Given the description of an element on the screen output the (x, y) to click on. 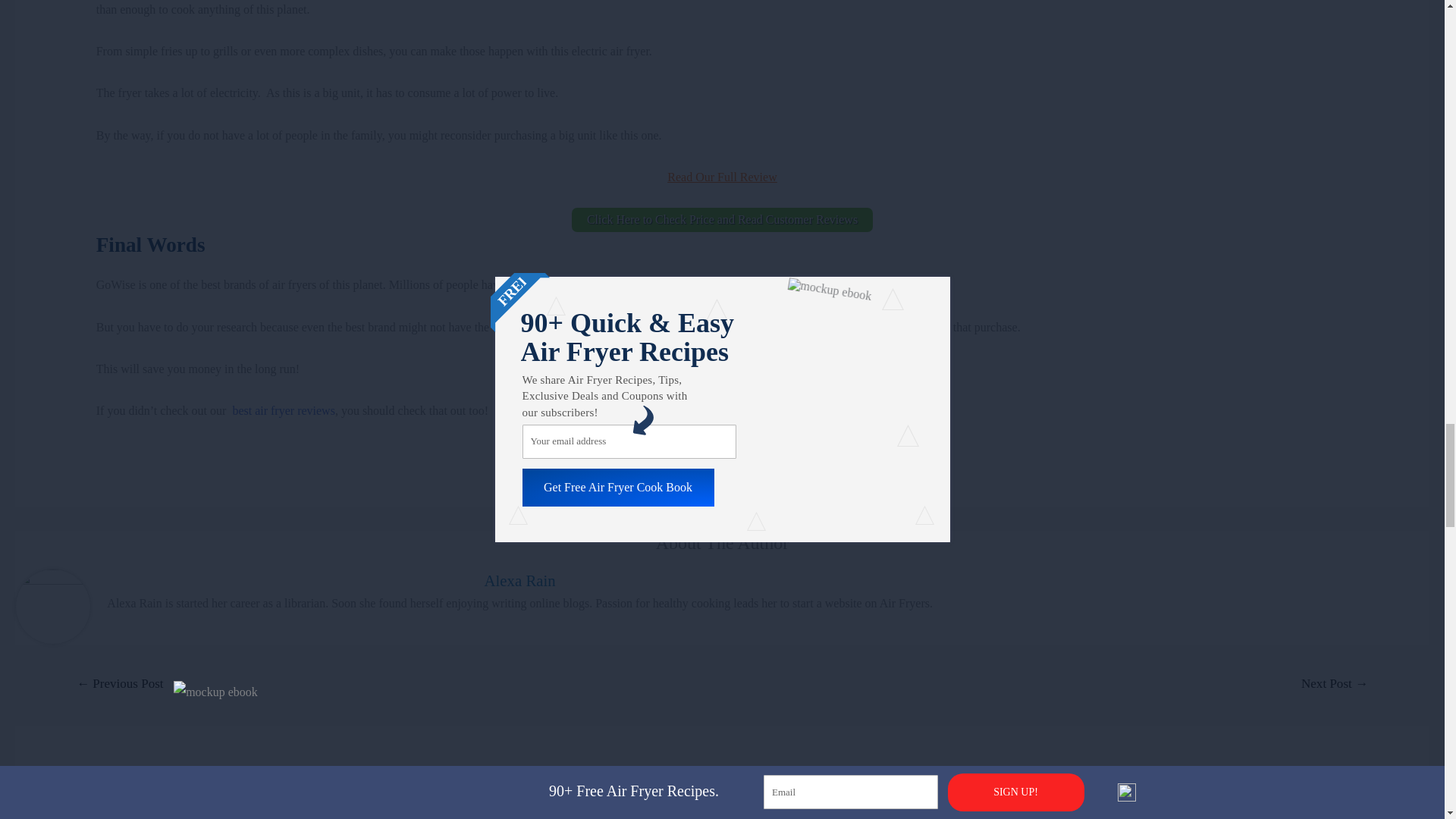
best air fryer reviews (282, 410)
Alexa Rain (519, 580)
Click Here to Check Price and Read Customer Reviews (722, 219)
Read Our Full Review (721, 176)
